Given the description of an element on the screen output the (x, y) to click on. 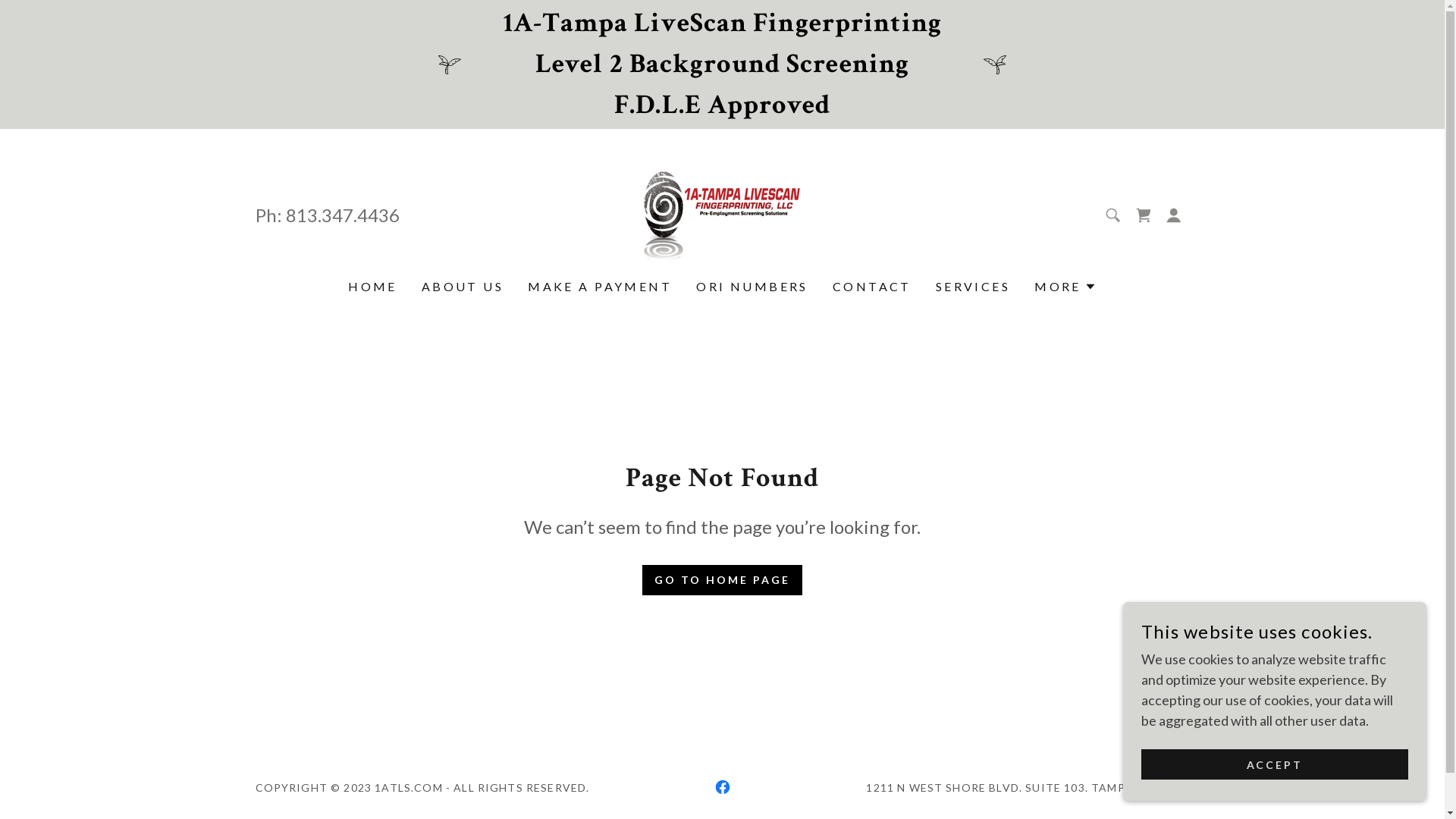
SERVICES Element type: text (972, 286)
CONTACT Element type: text (872, 286)
1ATLS.COM Element type: hover (721, 213)
813.347.4436 Element type: text (341, 214)
GO TO HOME PAGE Element type: text (722, 579)
HOME Element type: text (372, 286)
MAKE A PAYMENT Element type: text (599, 286)
ORI NUMBERS Element type: text (751, 286)
ABOUT US Element type: text (462, 286)
MORE Element type: text (1065, 286)
ACCEPT Element type: text (1274, 764)
